Given the description of an element on the screen output the (x, y) to click on. 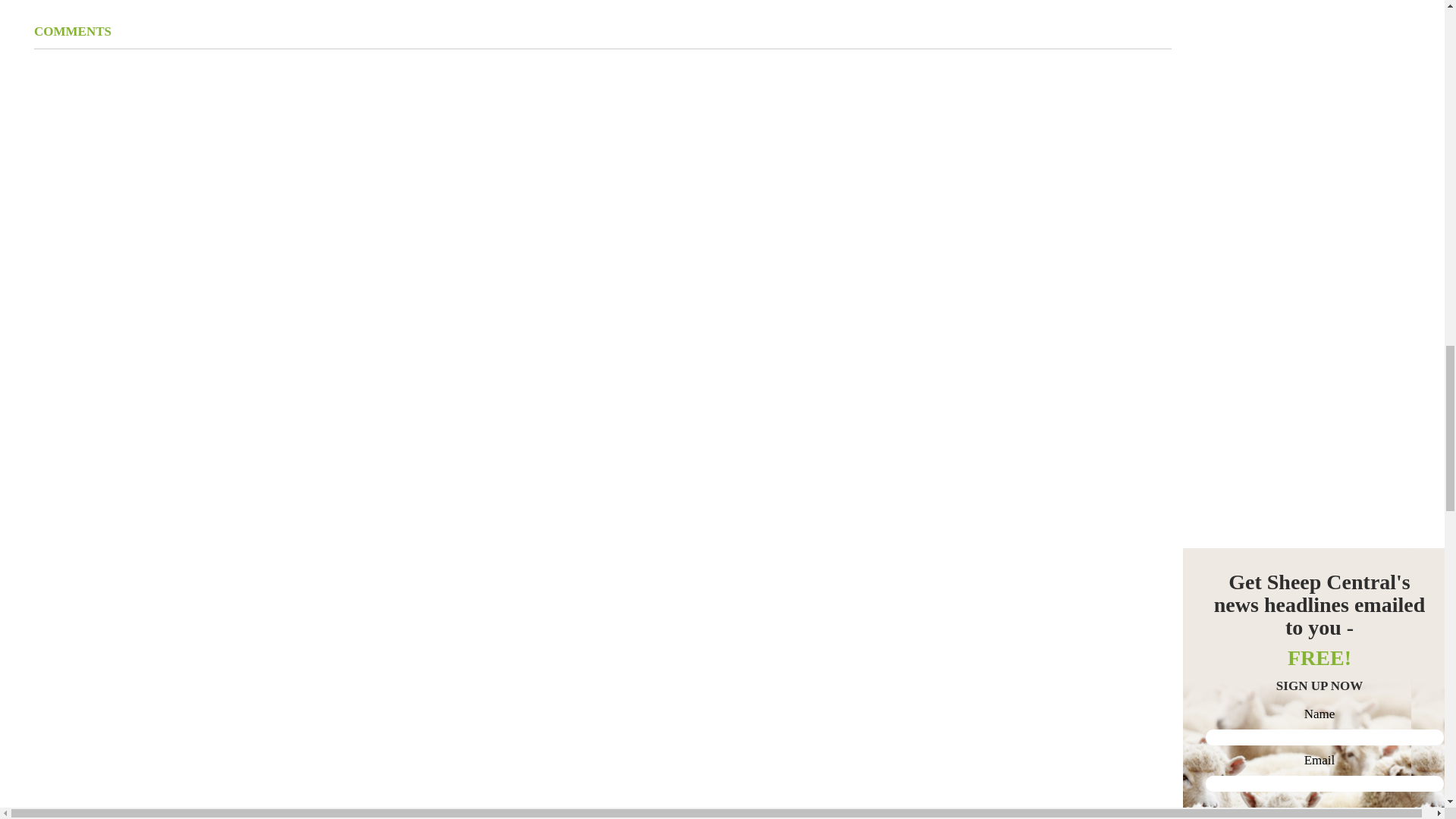
3rd party ad content (1296, 80)
3rd party ad content (1296, 271)
